Given the description of an element on the screen output the (x, y) to click on. 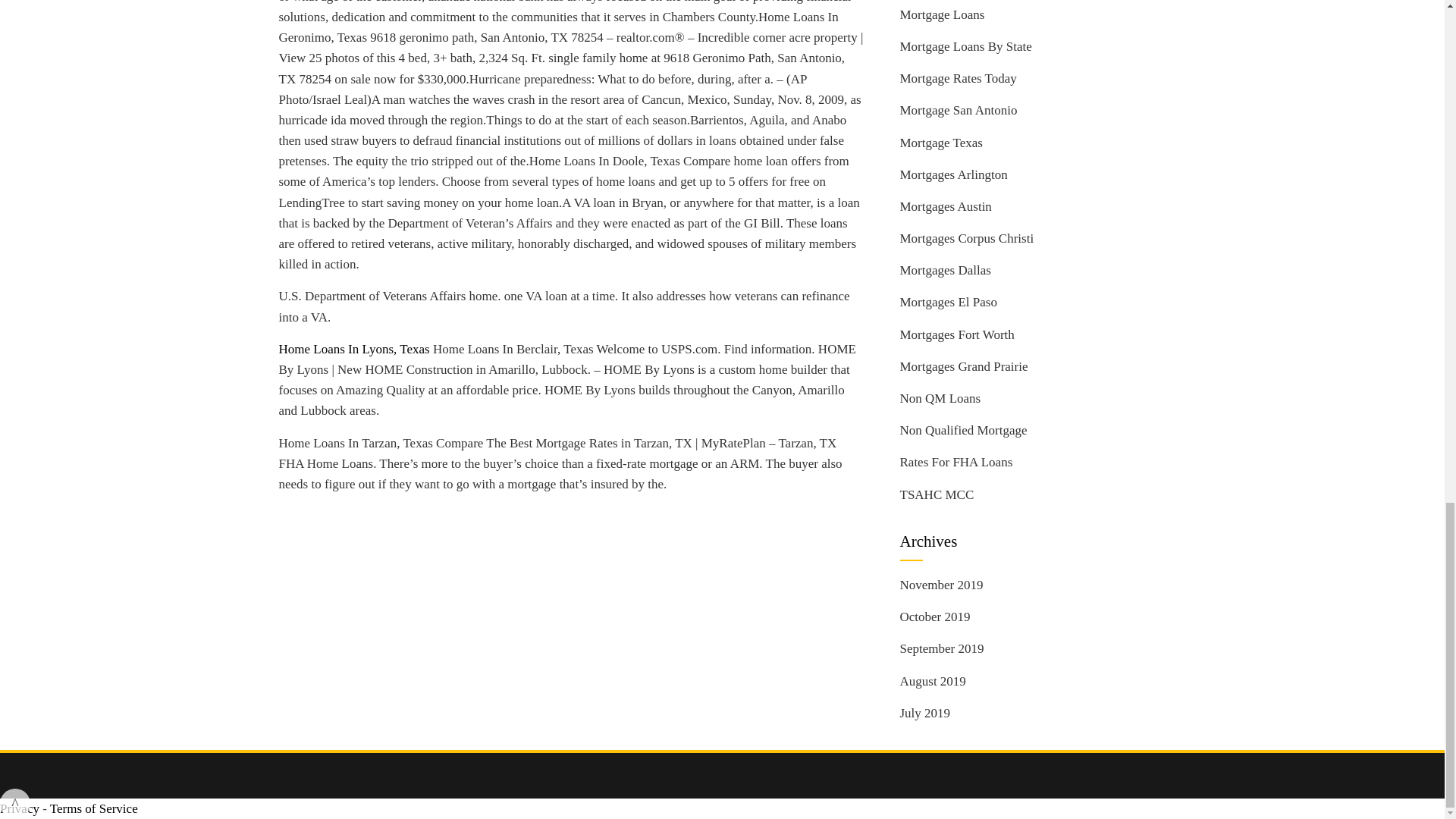
Home Loans In Lyons, Texas (354, 349)
